Given the description of an element on the screen output the (x, y) to click on. 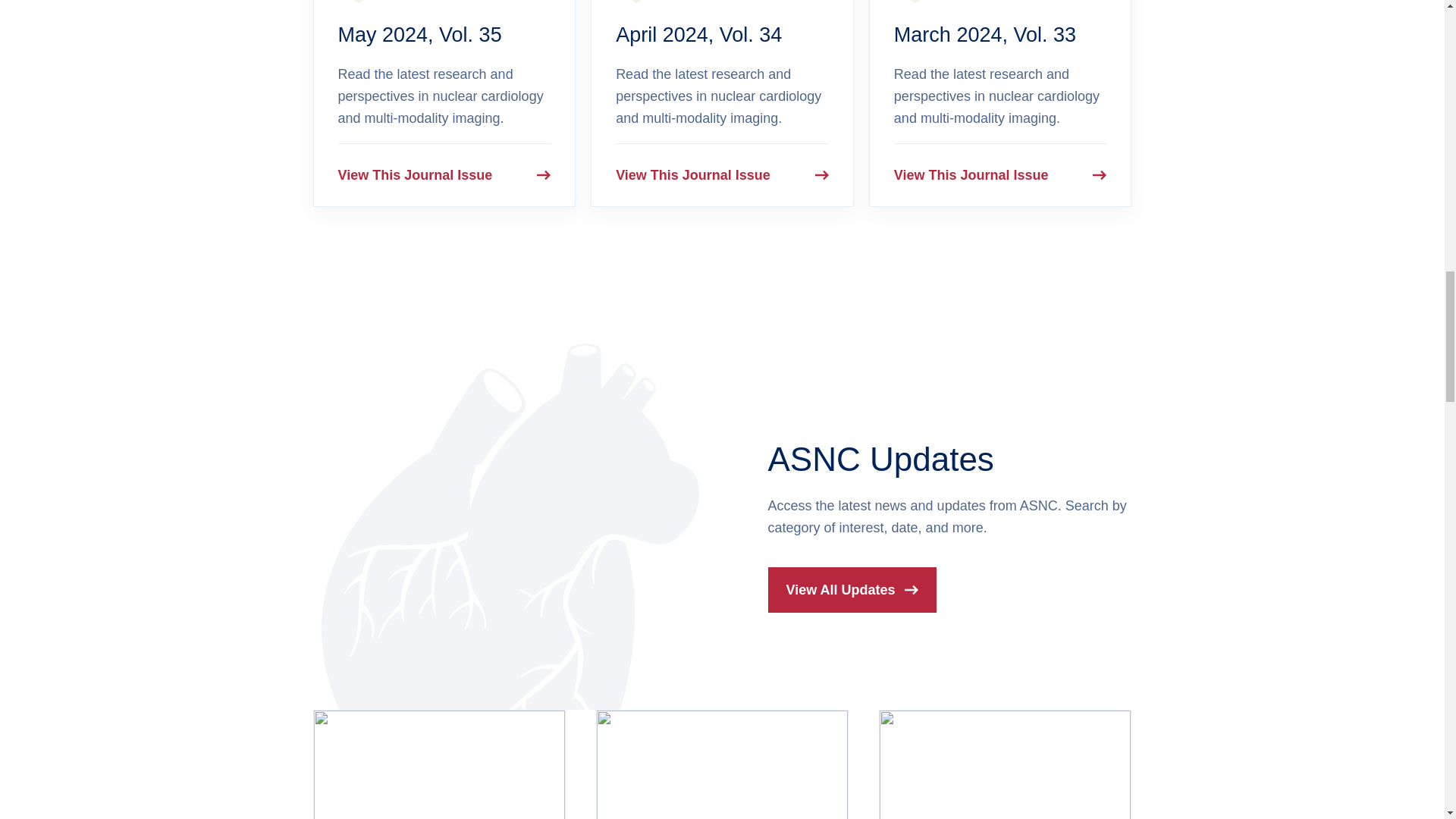
ASNC Updates (879, 458)
March 2024, Vol. 33 (984, 34)
May 2024, Vol. 35 (419, 34)
April 2024, Vol. 34 (698, 34)
